Given the description of an element on the screen output the (x, y) to click on. 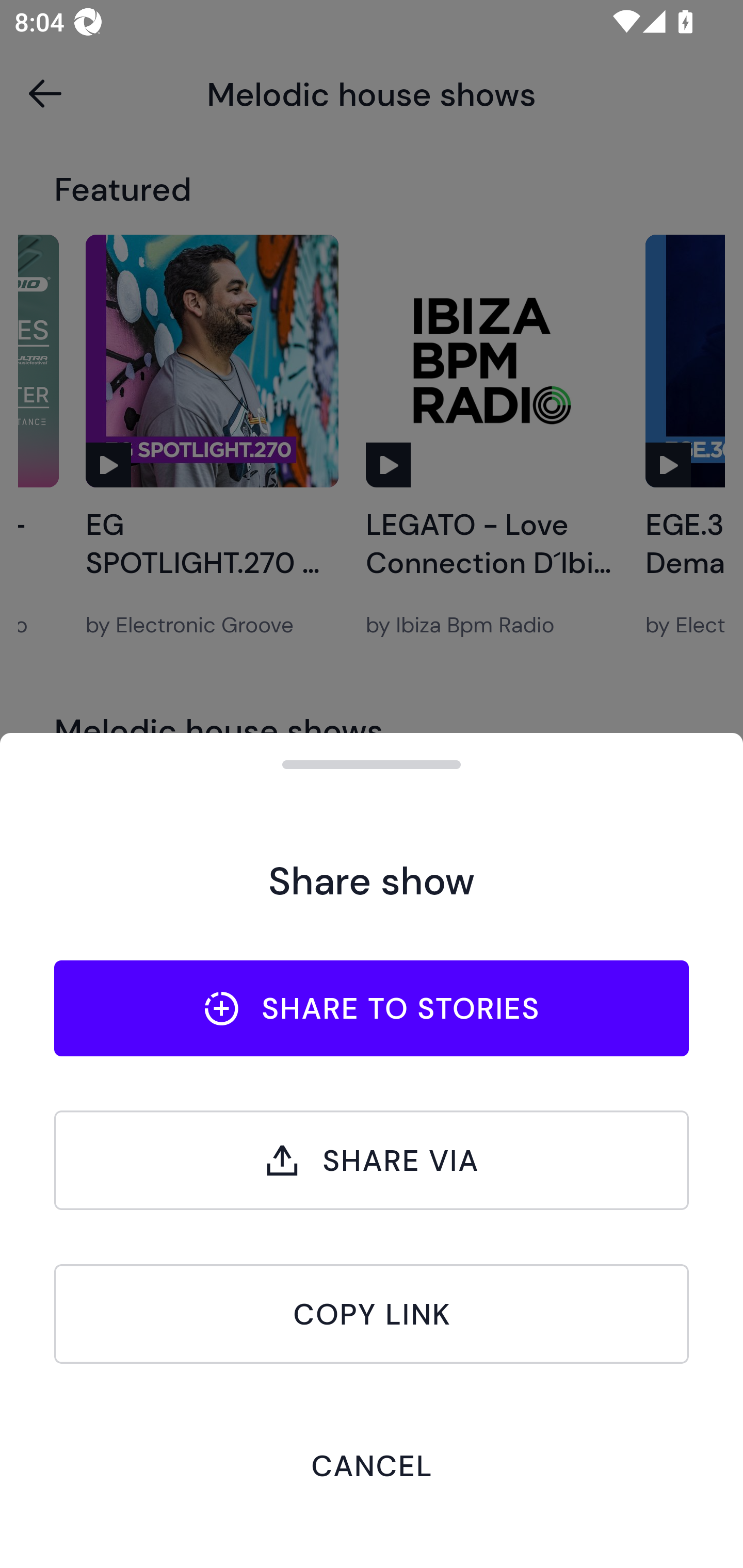
Share to stories SHARE TO STORIES (371, 1007)
Share VIA SHARE VIA (371, 1160)
Copy link COPY LINK (371, 1313)
Cancel CANCEL (371, 1465)
